Given the description of an element on the screen output the (x, y) to click on. 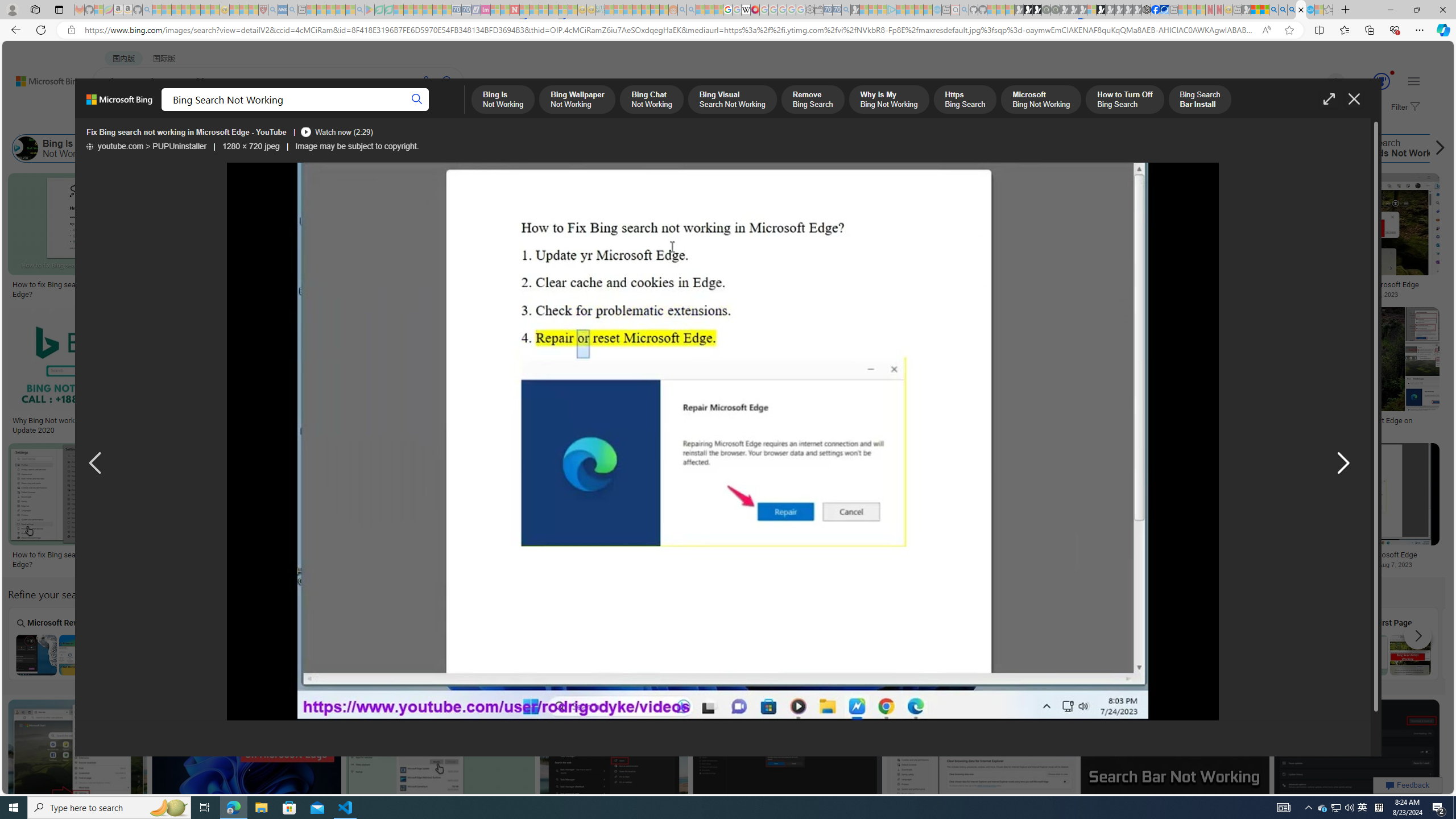
Close image (1352, 99)
WEB (114, 111)
AutomationID: rh_meter (1381, 80)
Bluey: Let's Play! - Apps on Google Play - Sleeping (369, 9)
Bing Not Working Properly (1092, 148)
Microsoft Rewards Bing Search Not Working (57, 655)
utah sues federal government - Search - Sleeping (291, 9)
Bing Wallpaper Not Working (122, 148)
Bing Search the Web for Image Not Working Web For (671, 643)
Fix Bing search not working in Microsoft Edge (1350, 554)
Why Is My Bing Not Working (558, 148)
